Given the description of an element on the screen output the (x, y) to click on. 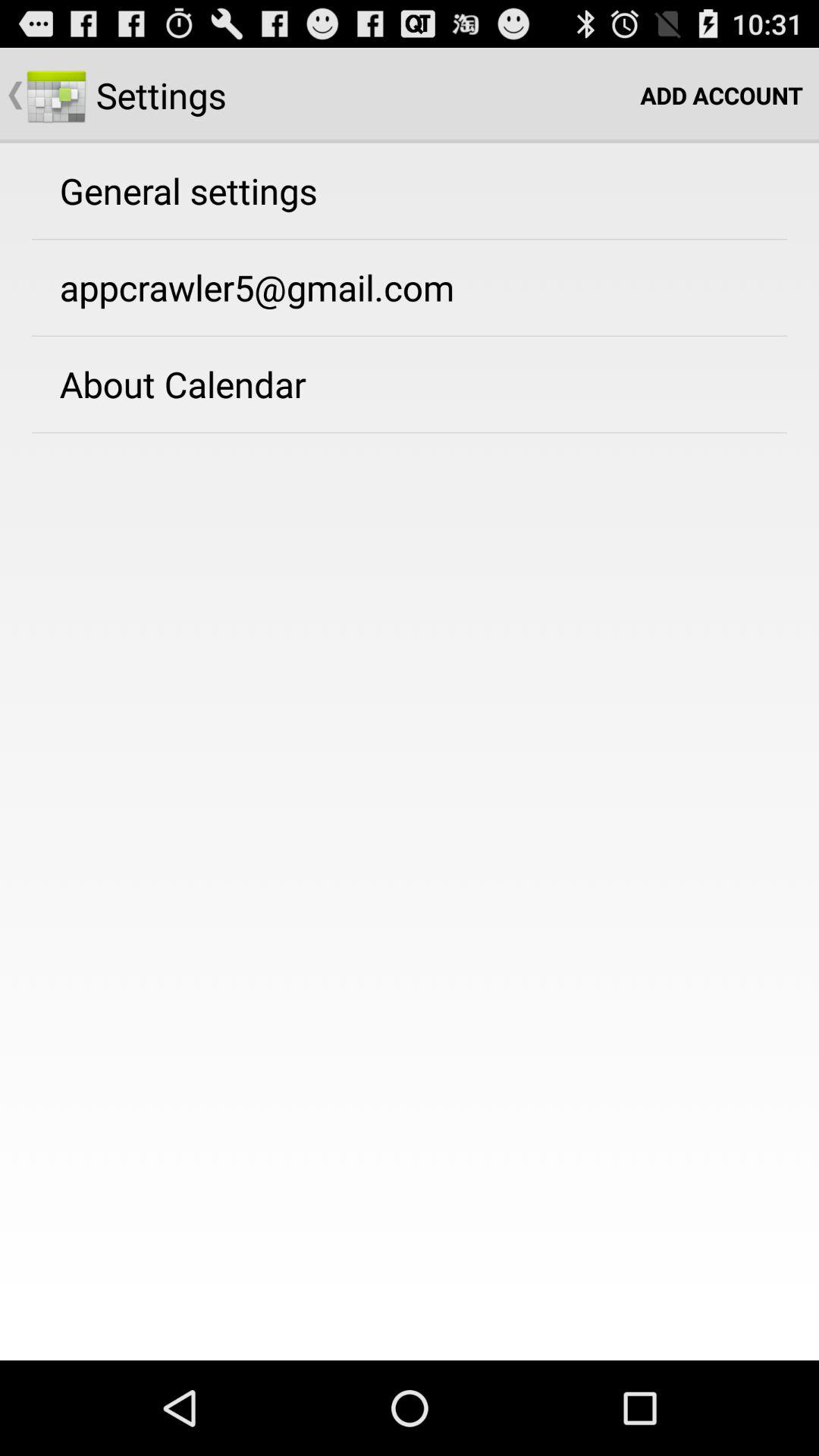
tap the icon below appcrawler5@gmail.com icon (182, 384)
